Given the description of an element on the screen output the (x, y) to click on. 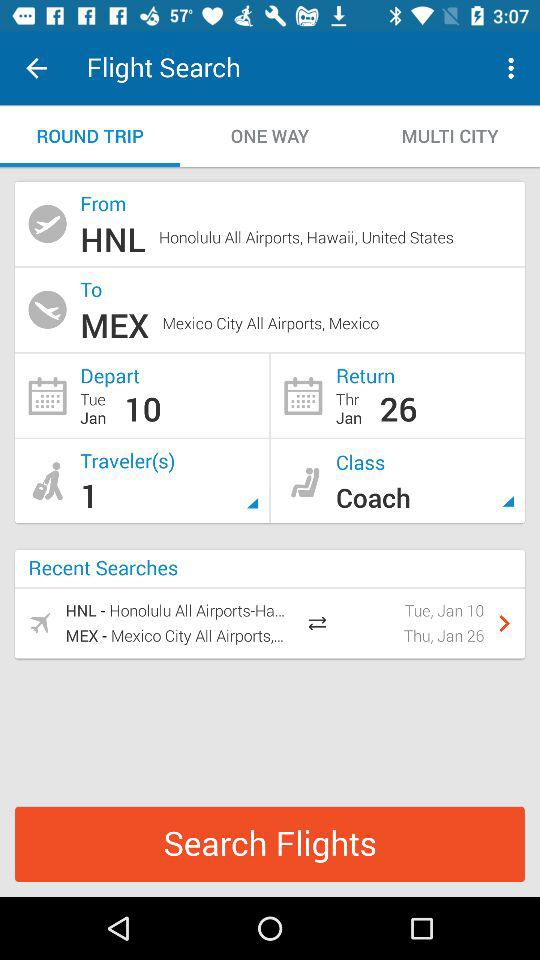
choose the icon to the left of the flight search (36, 68)
